Given the description of an element on the screen output the (x, y) to click on. 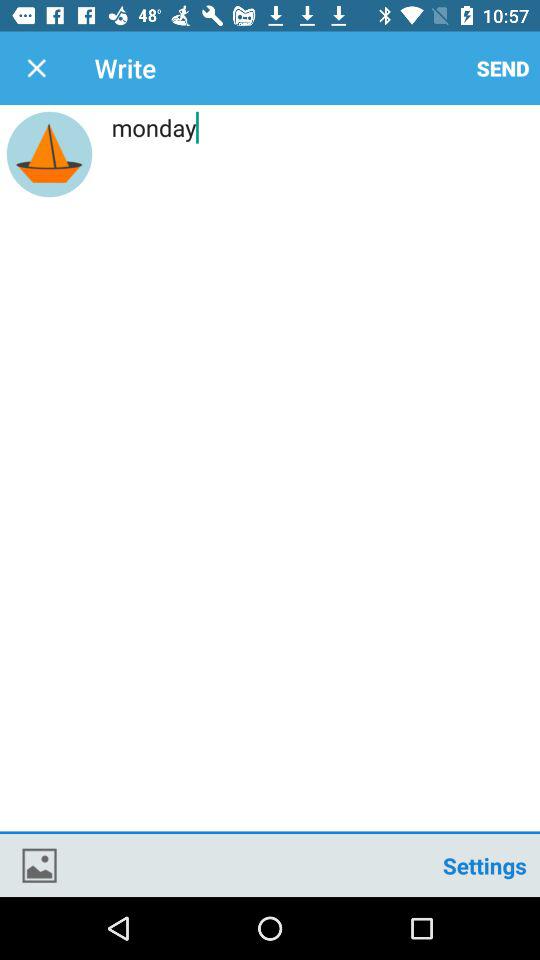
select the icon above the monday (36, 68)
